Given the description of an element on the screen output the (x, y) to click on. 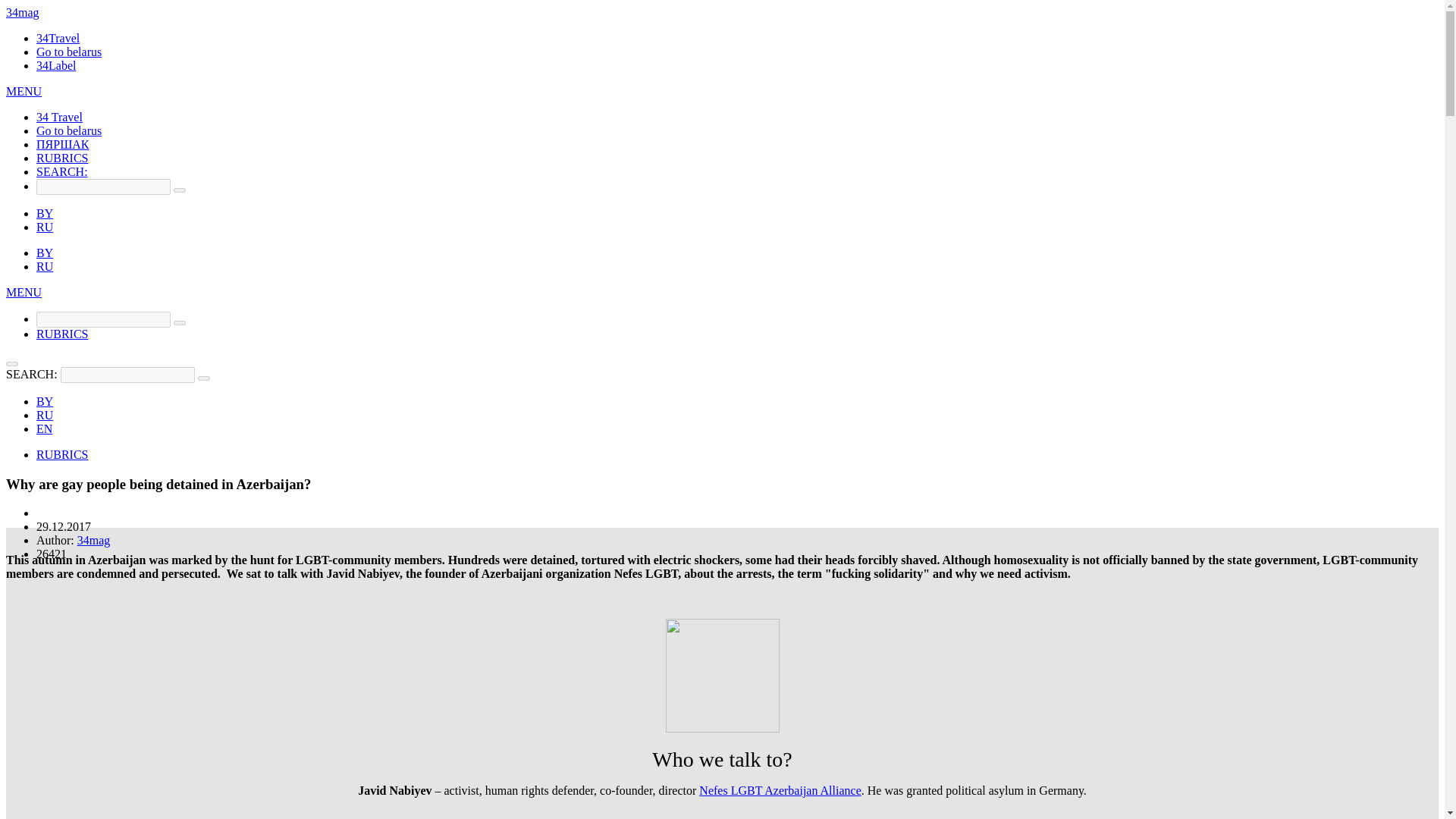
BY (44, 213)
34mag (22, 11)
34mag (93, 540)
Nefes LGBT Azerbaijan Alliance (779, 789)
Search (179, 323)
BY (44, 252)
34mag (22, 11)
34 Travel (59, 116)
BY (44, 400)
RU (44, 226)
EN (44, 428)
Search (203, 377)
RUBRICS (61, 333)
34Travel (58, 38)
Go to belarus (68, 130)
